Given the description of an element on the screen output the (x, y) to click on. 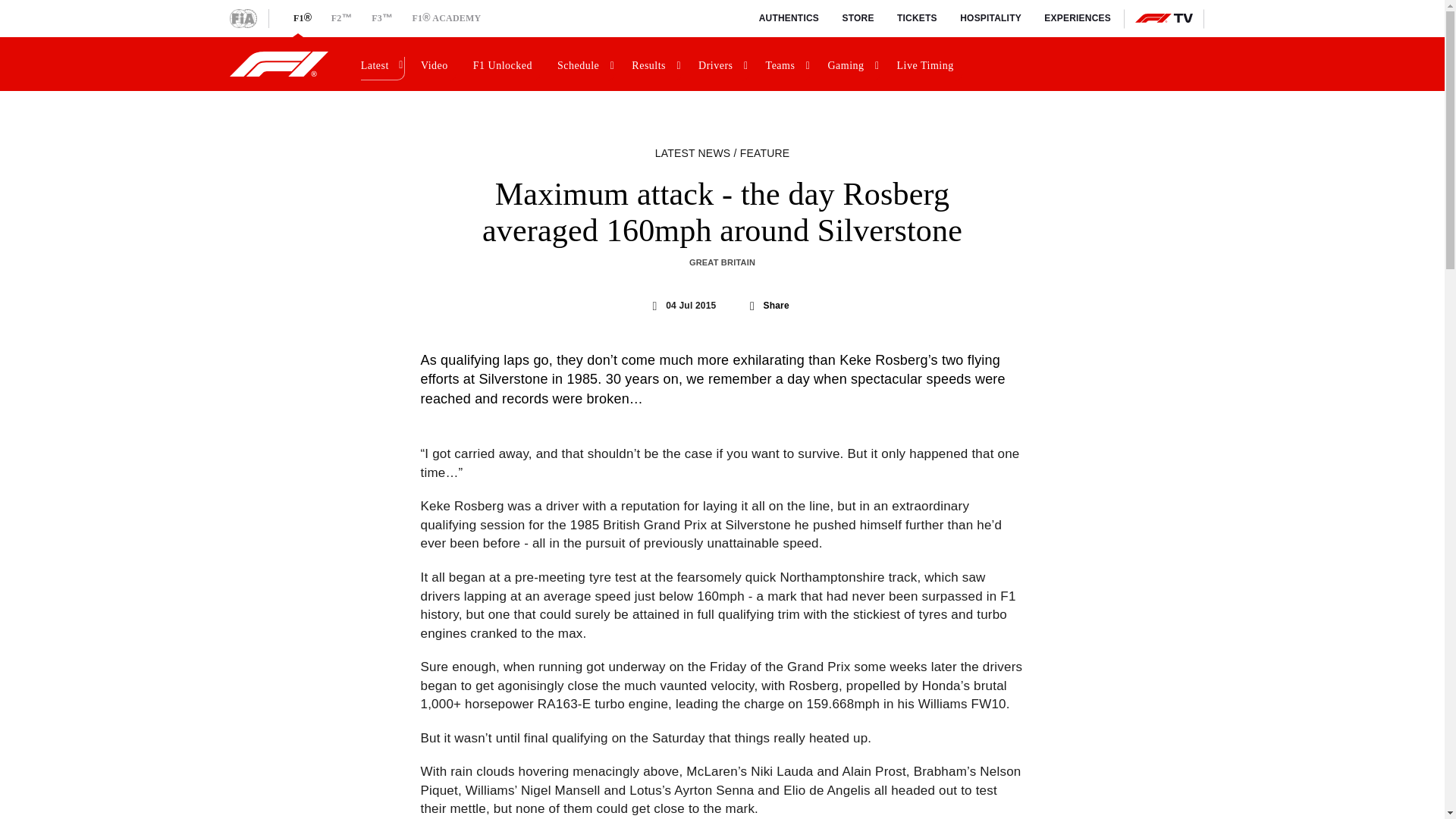
Schedule (584, 63)
Twitter (727, 305)
Drivers (721, 63)
Latest (380, 63)
Video (436, 63)
Facebook (749, 305)
Results (654, 63)
F1 Unlocked (505, 63)
